Given the description of an element on the screen output the (x, y) to click on. 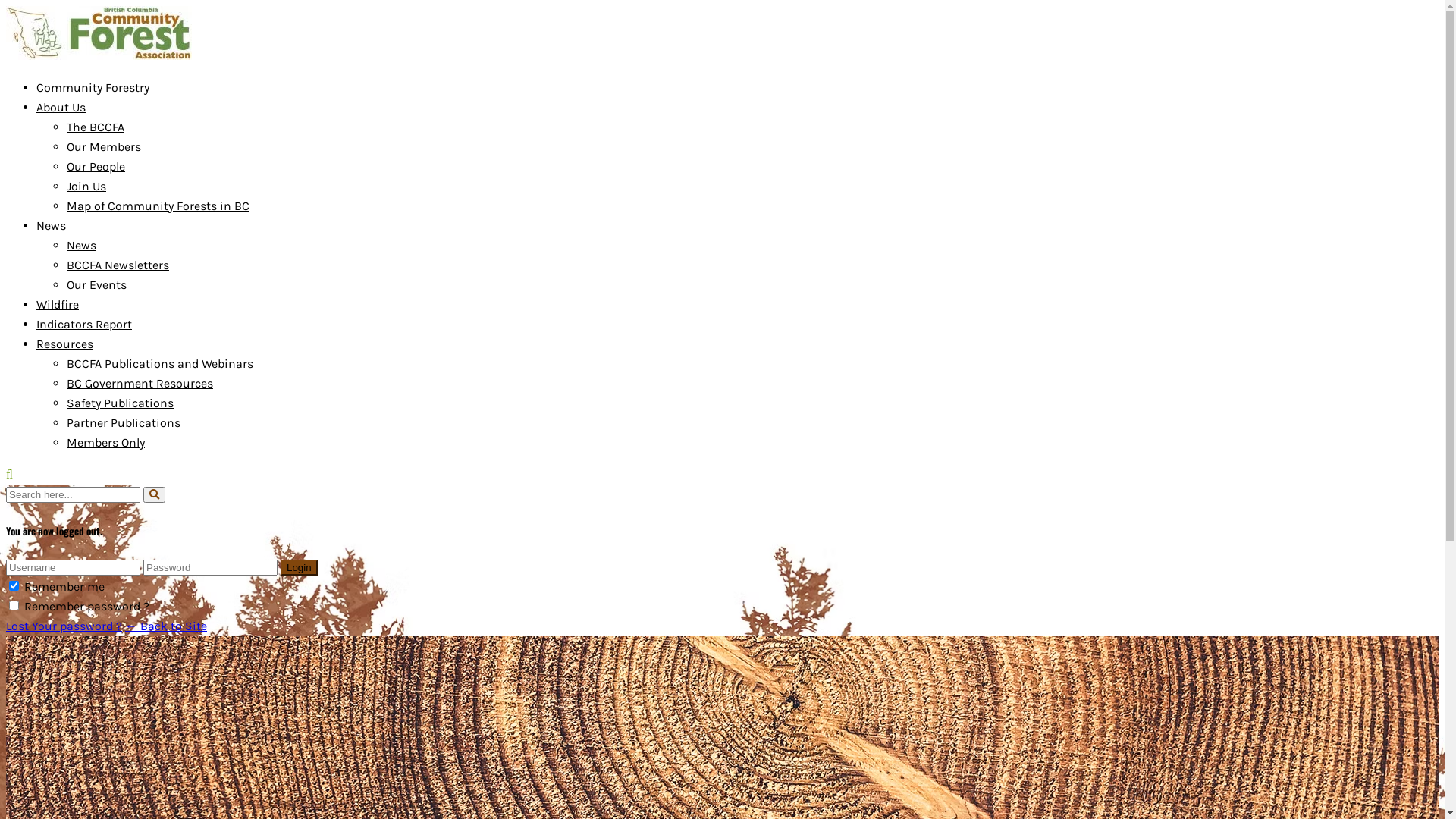
Indicators Report Element type: text (83, 323)
The BCCFA Element type: text (95, 126)
News Element type: text (50, 225)
Members Only Element type: text (105, 442)
BCCFA Newsletters Element type: text (117, 264)
Login Element type: text (298, 567)
Resources Element type: text (64, 343)
News Element type: text (81, 245)
Lost Your password ? Element type: text (64, 625)
BC Government Resources Element type: text (139, 383)
Map of Community Forests in BC Element type: text (157, 205)
Our Events Element type: text (96, 284)
Our People Element type: text (95, 166)
About Us Element type: text (60, 107)
Join Us Element type: text (86, 185)
BCCFA Publications and Webinars Element type: text (159, 363)
Safety Publications Element type: text (119, 402)
Community Forestry Element type: text (92, 87)
Partner Publications Element type: text (123, 422)
Our Members Element type: text (103, 146)
Wildfire Element type: text (57, 304)
